Given the description of an element on the screen output the (x, y) to click on. 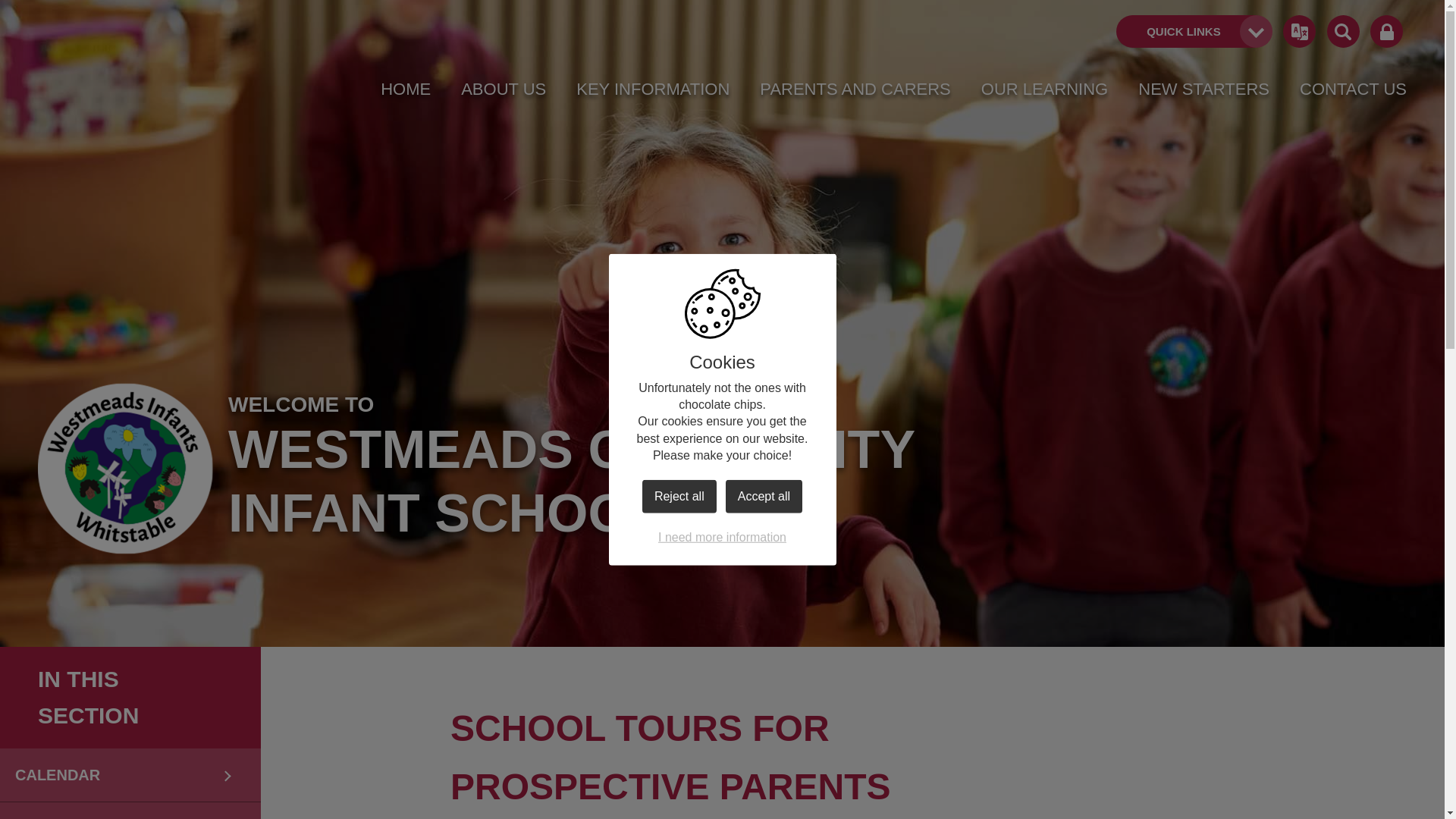
Log in (1386, 32)
HOME (405, 89)
Home Page (124, 468)
KEY INFORMATION (652, 89)
ABOUT US (503, 89)
